Given the description of an element on the screen output the (x, y) to click on. 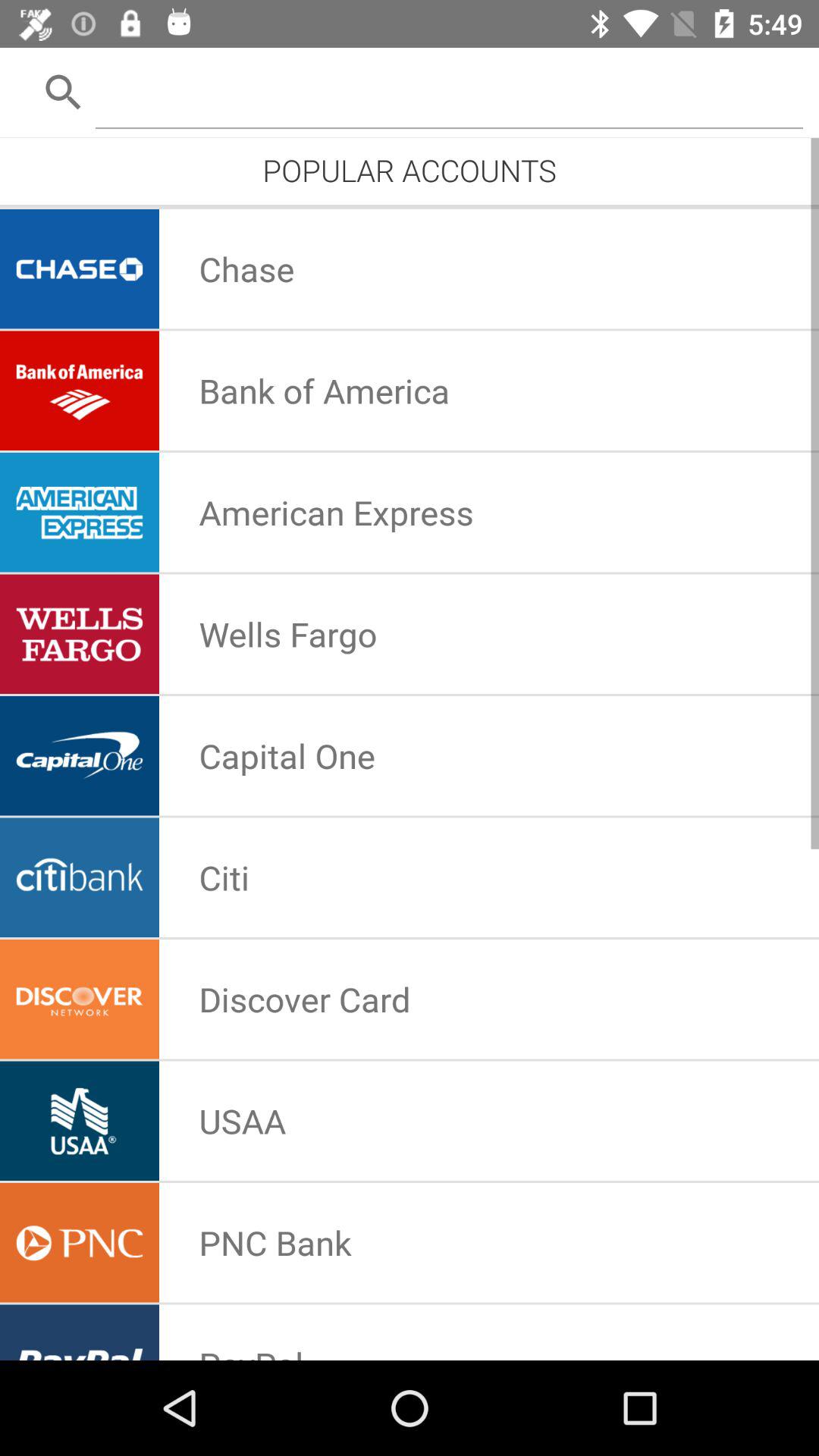
search (449, 91)
